Given the description of an element on the screen output the (x, y) to click on. 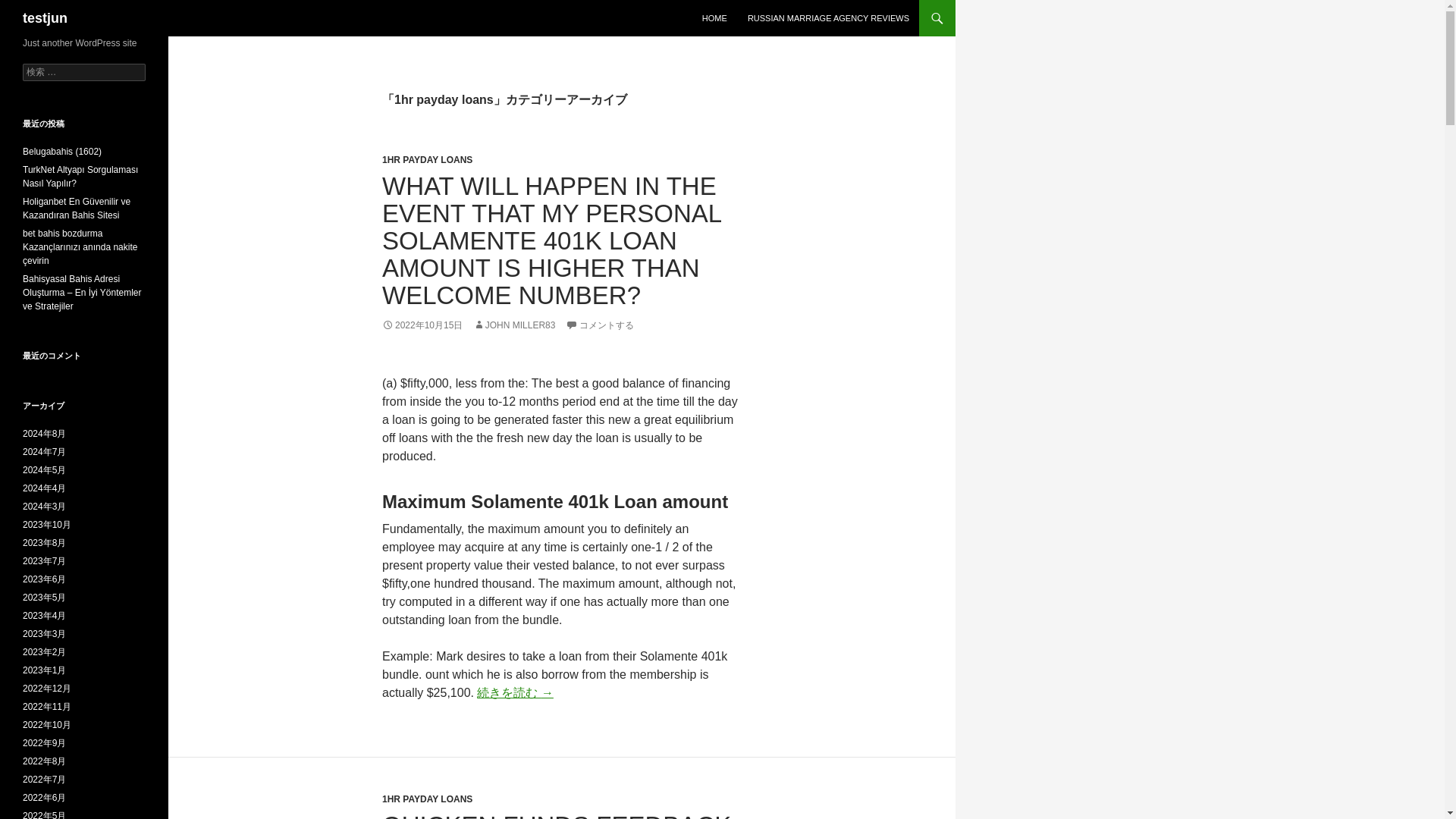
RUSSIAN MARRIAGE AGENCY REVIEWS (828, 18)
1HR PAYDAY LOANS (426, 159)
1HR PAYDAY LOANS (426, 798)
JOHN MILLER83 (514, 325)
testjun (44, 18)
HOME (714, 18)
